Given the description of an element on the screen output the (x, y) to click on. 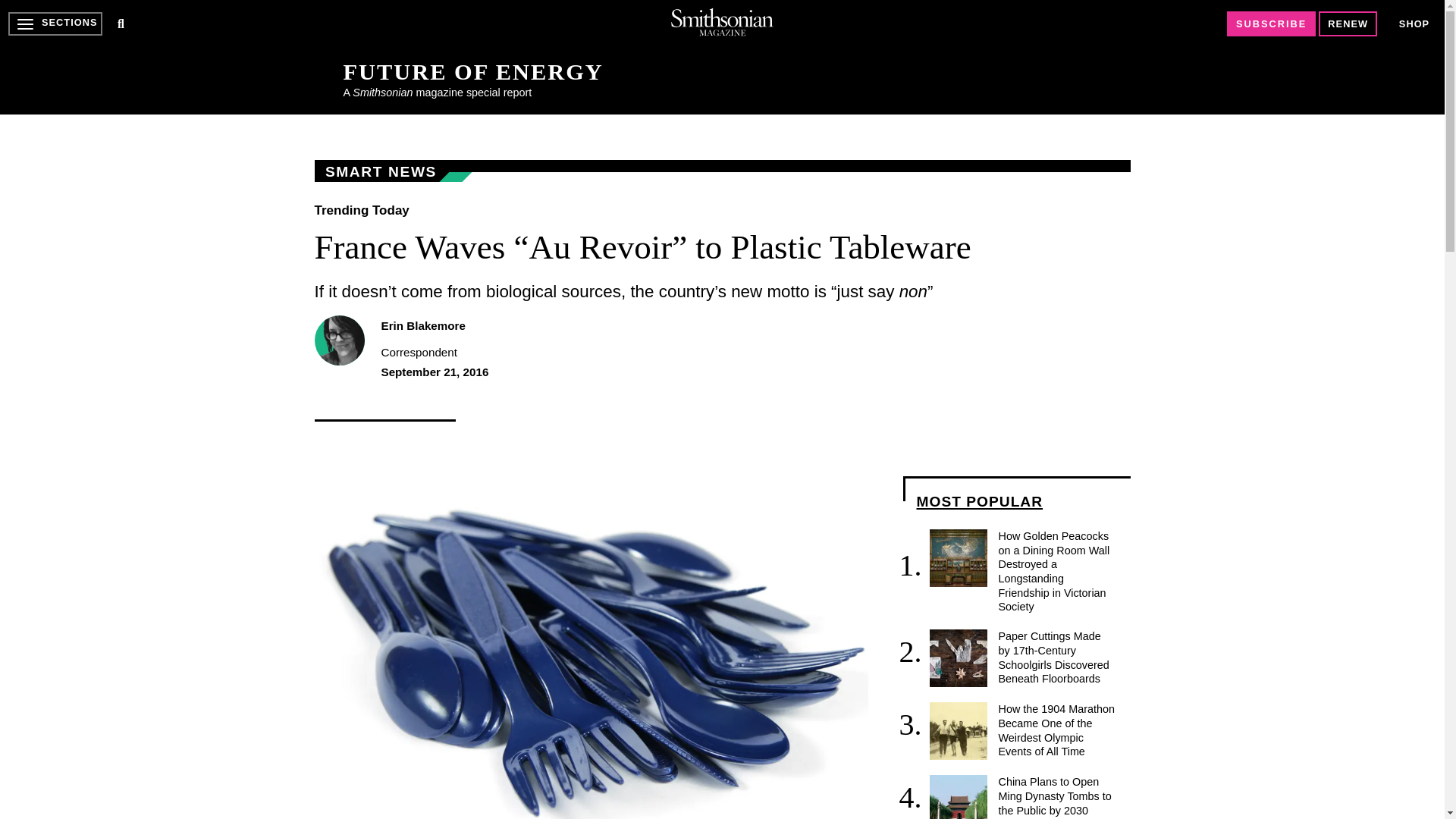
SHOP (1414, 23)
SECTIONS (55, 23)
SUBSCRIBE (1271, 23)
SUBSCRIBE (1271, 23)
SHOP (1413, 23)
RENEW (1347, 23)
RENEW (1348, 23)
